Given the description of an element on the screen output the (x, y) to click on. 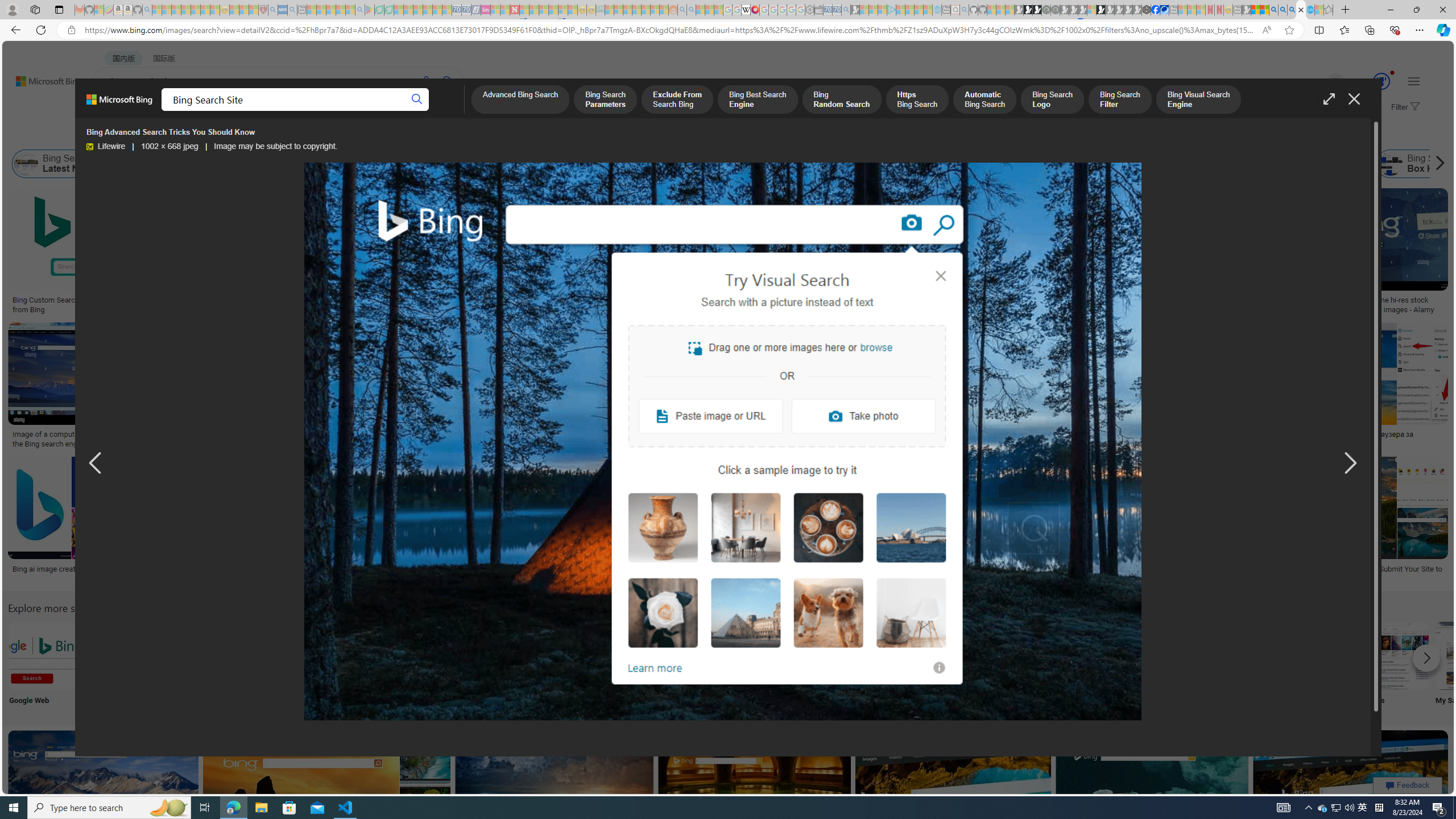
Https Bing Search (917, 100)
T-Shirts (802, 227)
Hoodies (802, 261)
FIX: Downloading proxy script message on Google Chrome (526, 573)
Image Search Bing Engine (198, 434)
AutomationID: serp_medal_svg (1381, 81)
Internet Explorer Bing Search (192, 654)
Advanced Bing Search (519, 100)
License (377, 135)
Bing Web (1245, 163)
Date (336, 135)
Bing Search Box History (1390, 163)
DICT (407, 111)
